Given the description of an element on the screen output the (x, y) to click on. 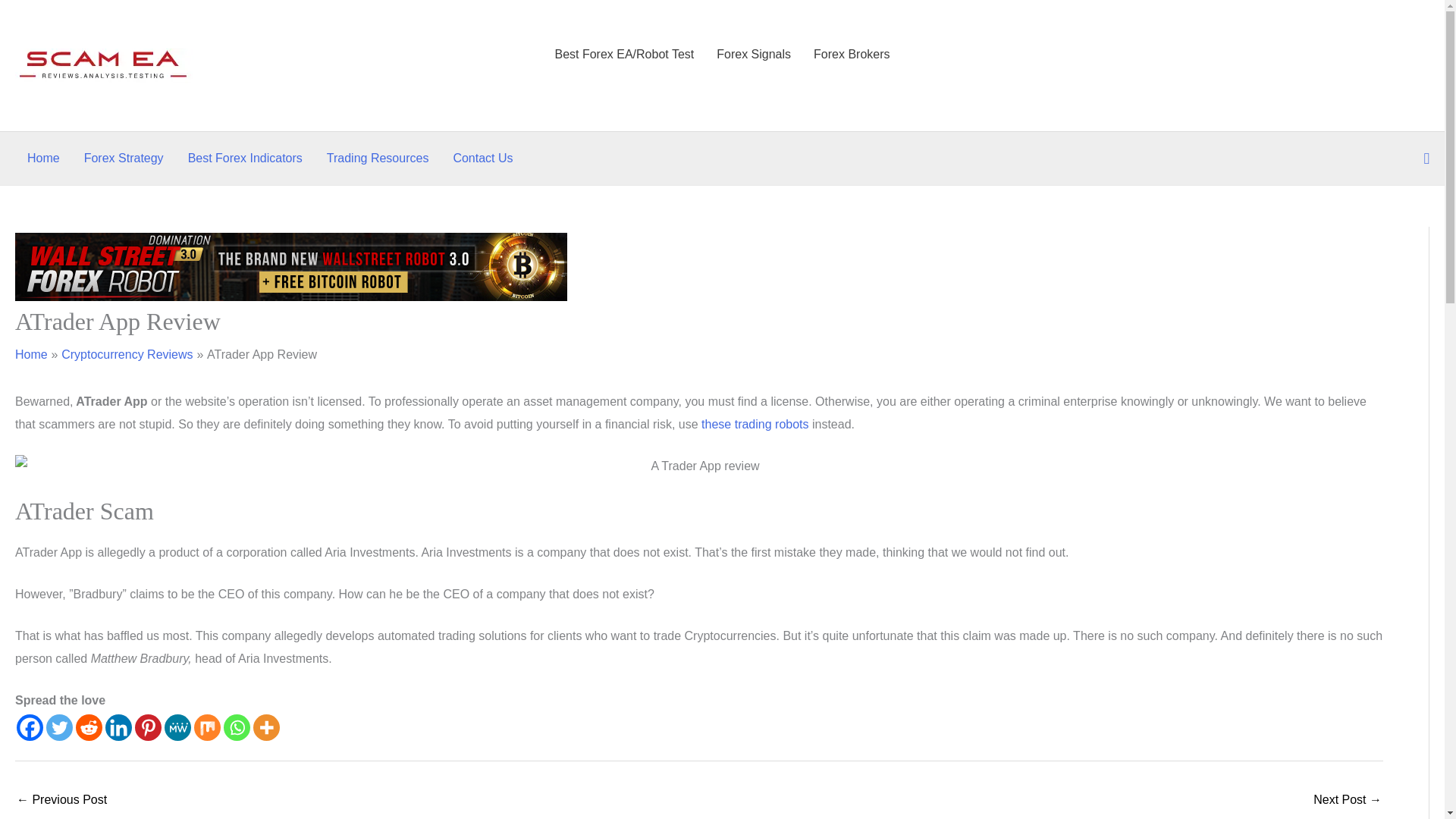
Twitter (59, 727)
Contact Us (482, 158)
Cryptocurrency Reviews (126, 354)
Whatsapp (237, 727)
Linkedin (118, 727)
Bit4G Review (1347, 800)
Facebook (29, 727)
MeWe (177, 727)
Forex Strategy (123, 158)
these trading robots (754, 423)
Reddit (88, 727)
Pinterest (148, 727)
Forex Brokers (851, 65)
Search (1426, 158)
Forex Signals (753, 65)
